Given the description of an element on the screen output the (x, y) to click on. 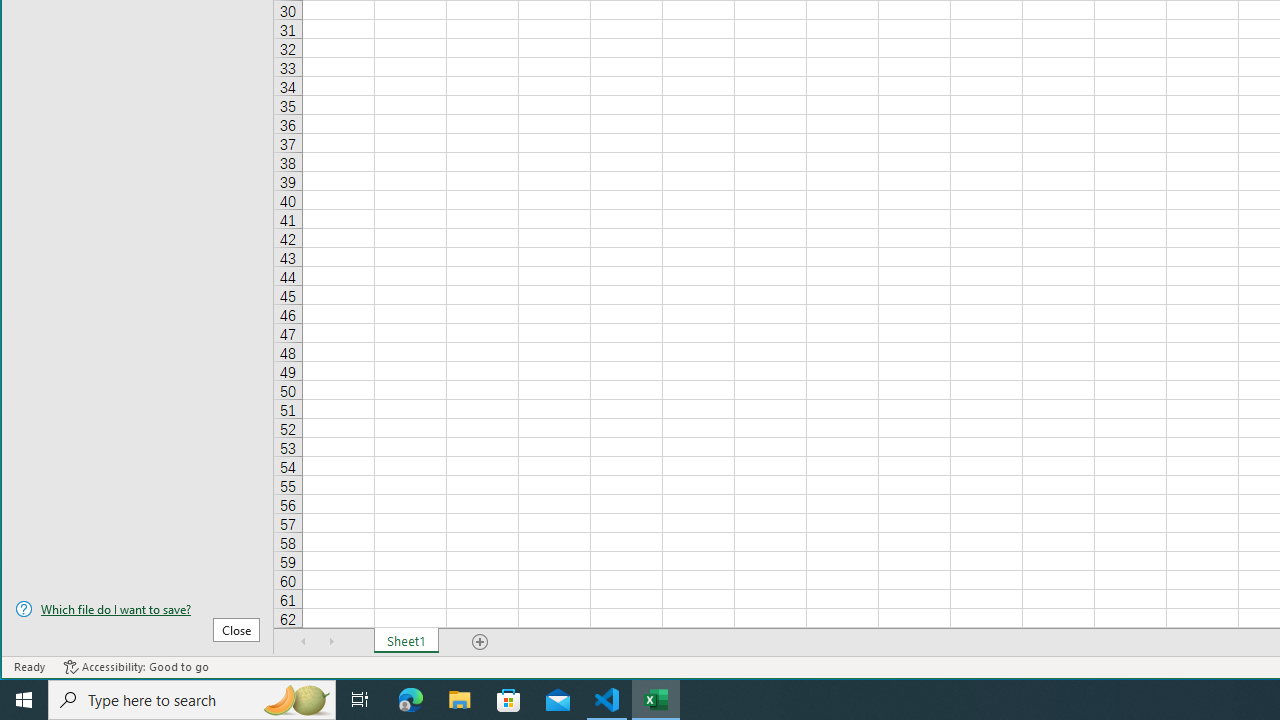
Excel - 1 running window (656, 699)
